Given the description of an element on the screen output the (x, y) to click on. 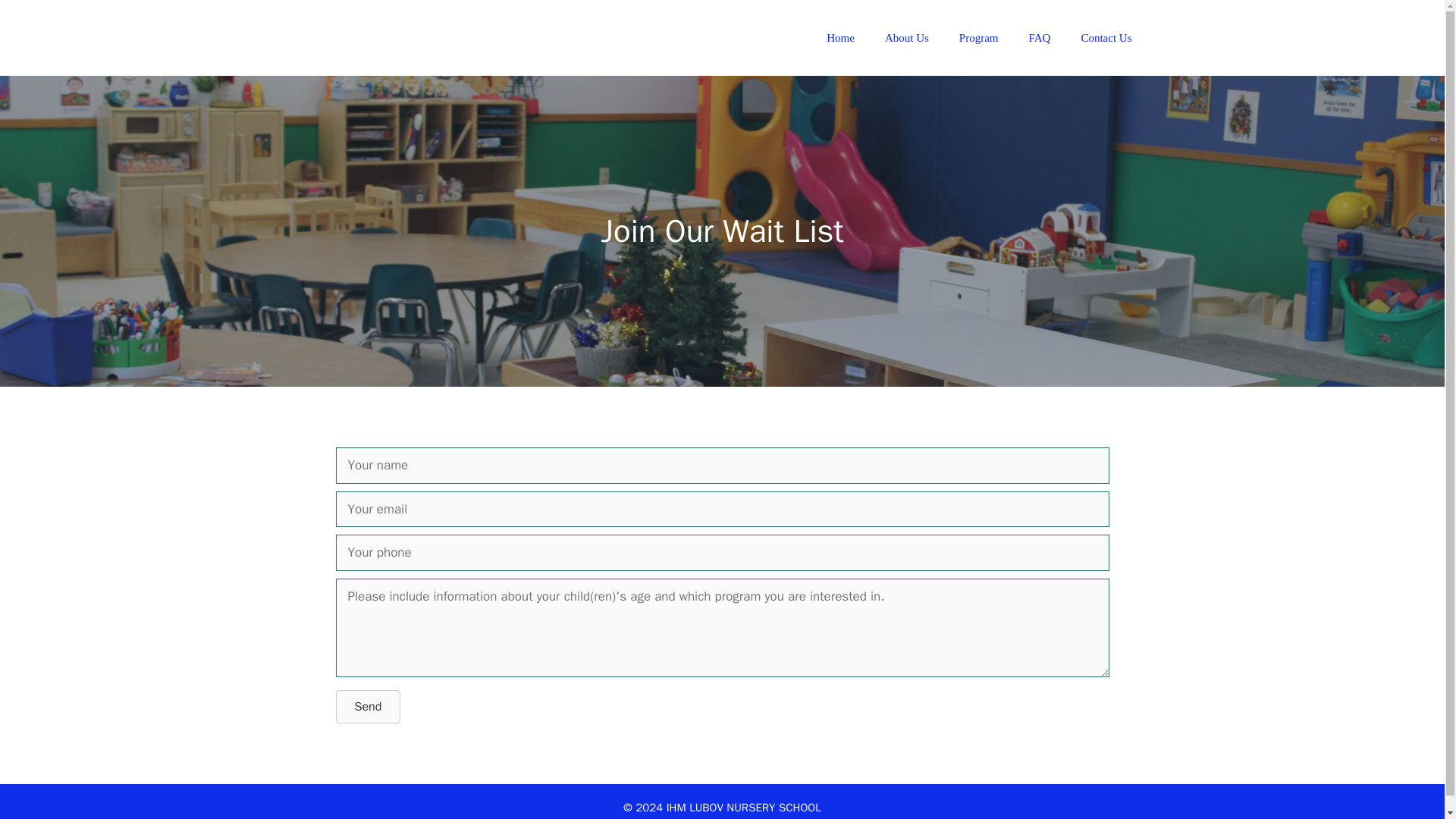
Send (367, 706)
FAQ (1039, 37)
Home (839, 37)
Program (978, 37)
Contact Us (1106, 37)
About Us (906, 37)
